Given the description of an element on the screen output the (x, y) to click on. 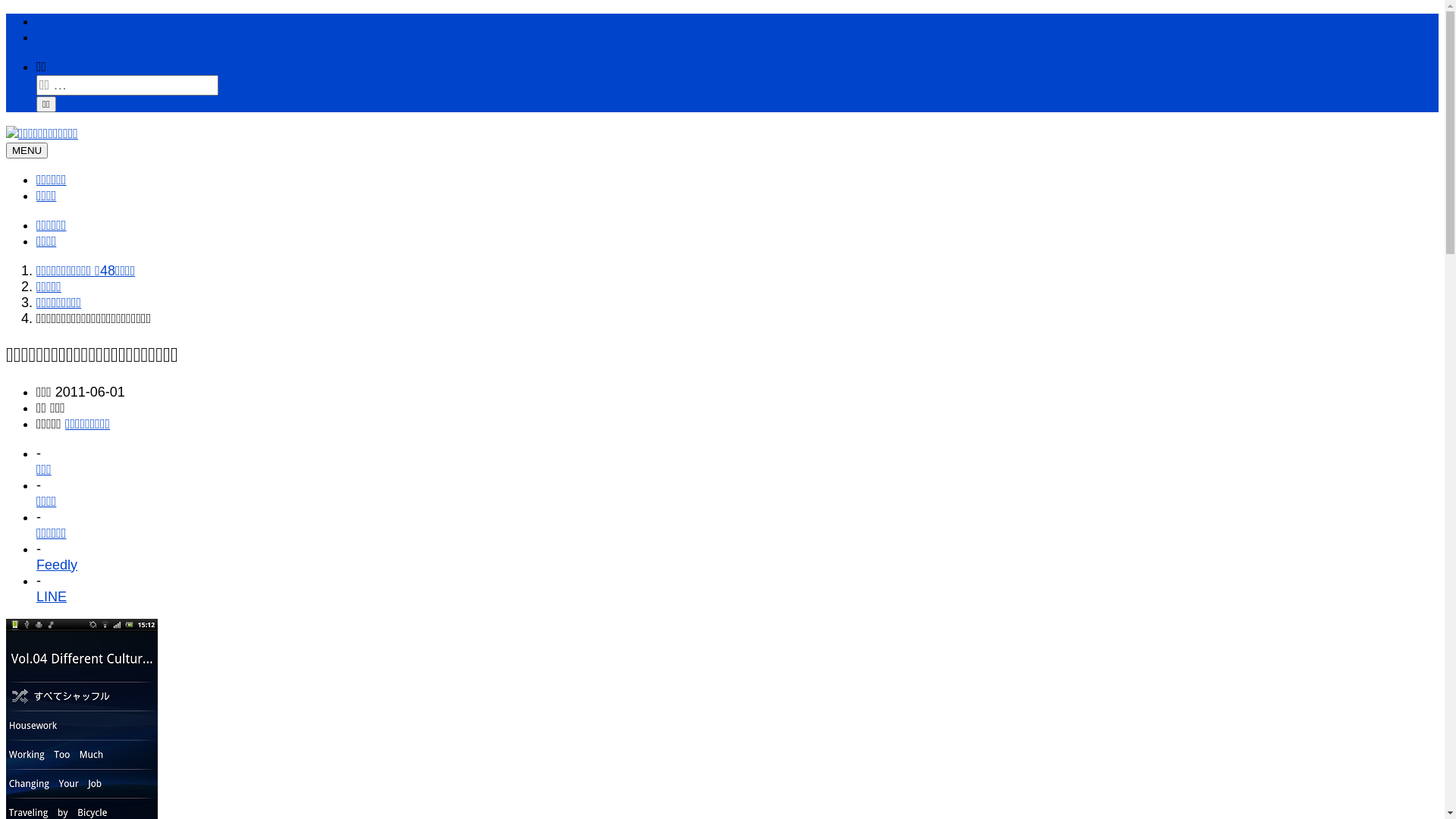
MENU Element type: text (26, 150)
LINE Element type: text (51, 596)
Feedly Element type: text (56, 564)
